Given the description of an element on the screen output the (x, y) to click on. 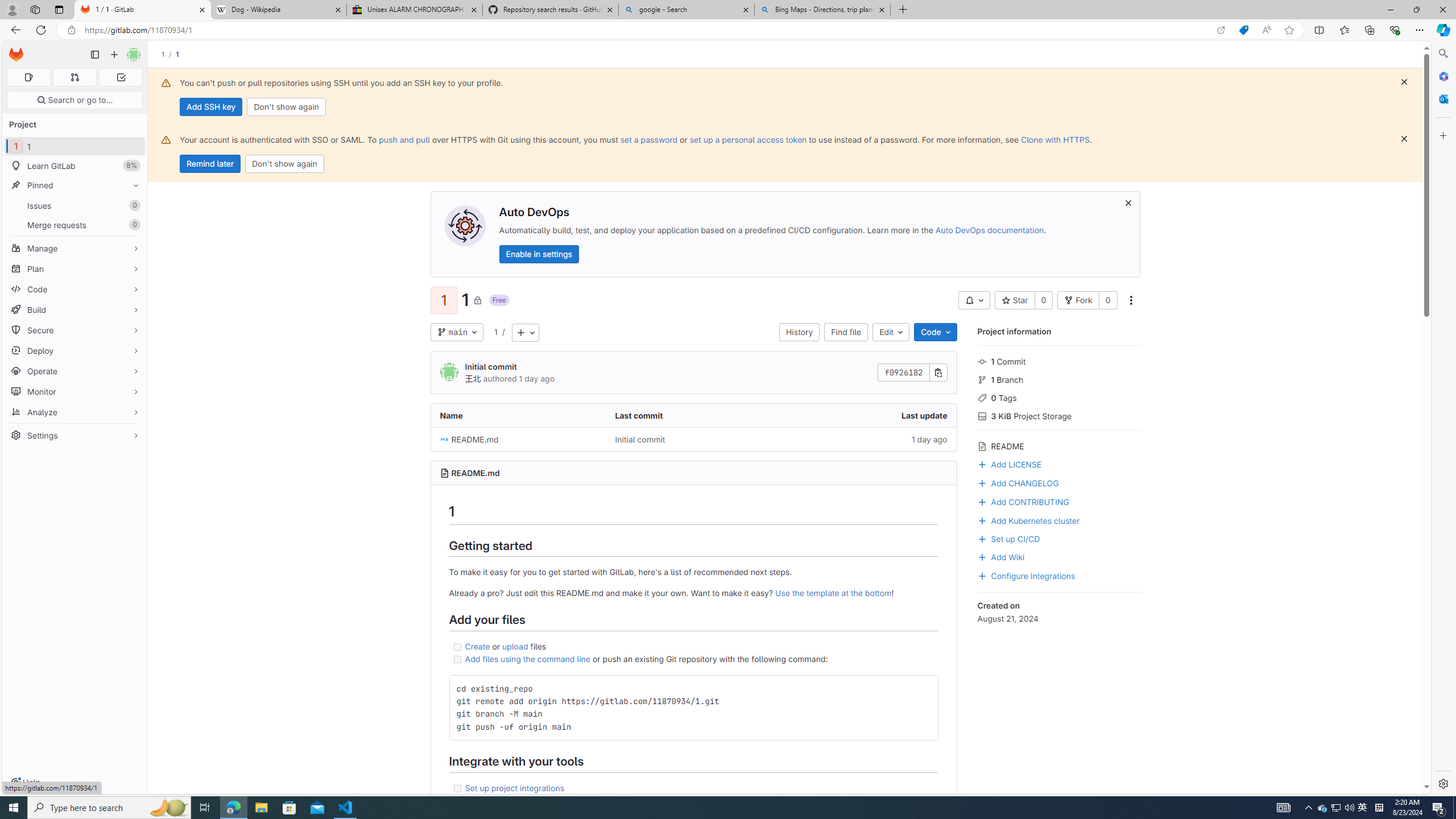
3 KiB Project Storage (1058, 415)
Class: s16 gl-mr-3 (981, 556)
Set up CI/CD (1007, 537)
 Star (1014, 300)
Add Kubernetes cluster (1028, 519)
Name (517, 415)
Copy commit SHA (937, 372)
0 Tags (1058, 396)
Use the template at the bottom (832, 593)
Add to tree (524, 332)
